Given the description of an element on the screen output the (x, y) to click on. 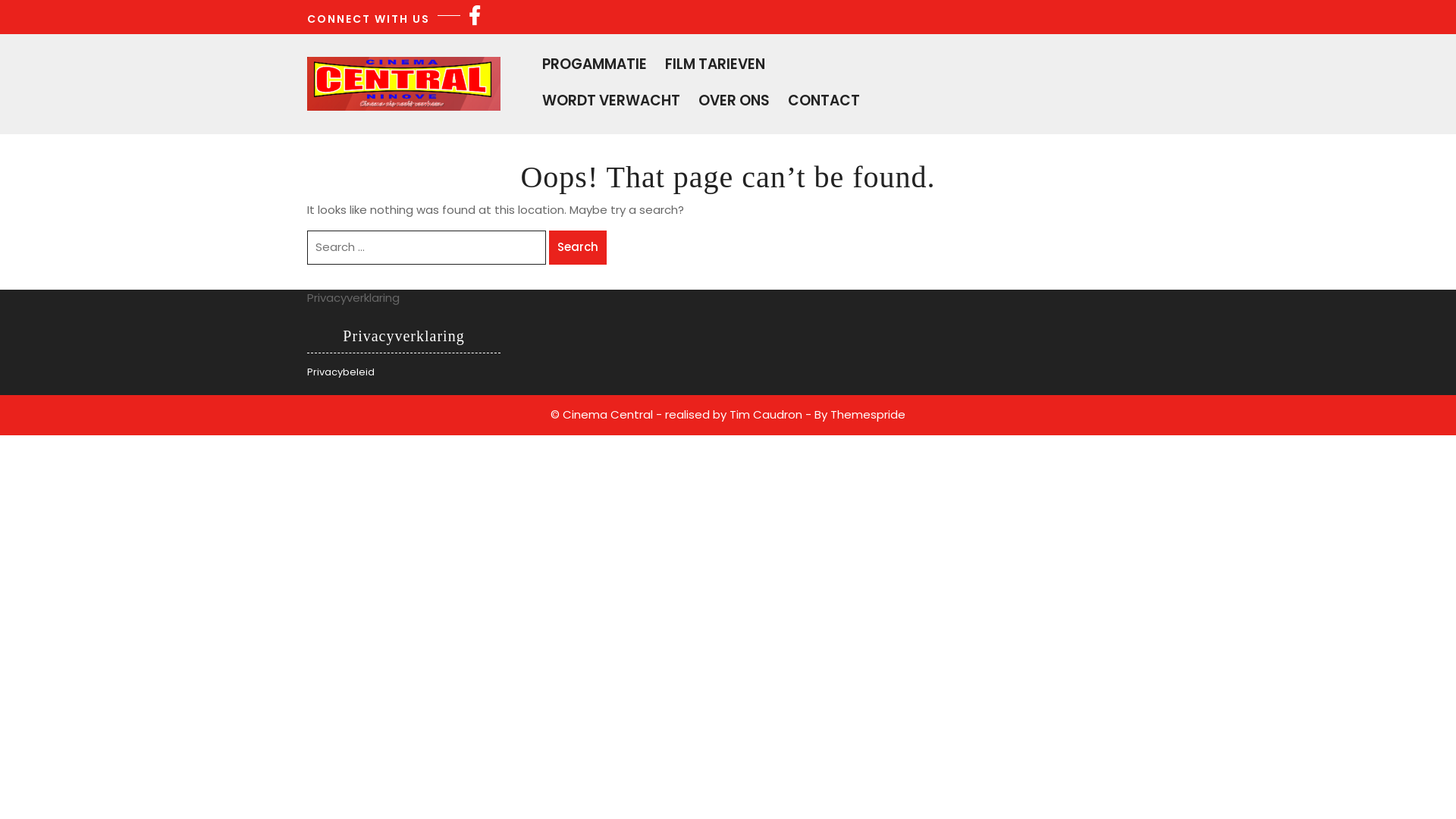
OVER ONS Element type: text (769, 99)
CONTACT Element type: text (859, 99)
Search Element type: text (577, 247)
PROGAMMATIE Element type: text (646, 63)
FILM TARIEVEN Element type: text (765, 63)
WORDT VERWACHT Element type: text (680, 99)
Privacybeleid Element type: text (340, 371)
